Given the description of an element on the screen output the (x, y) to click on. 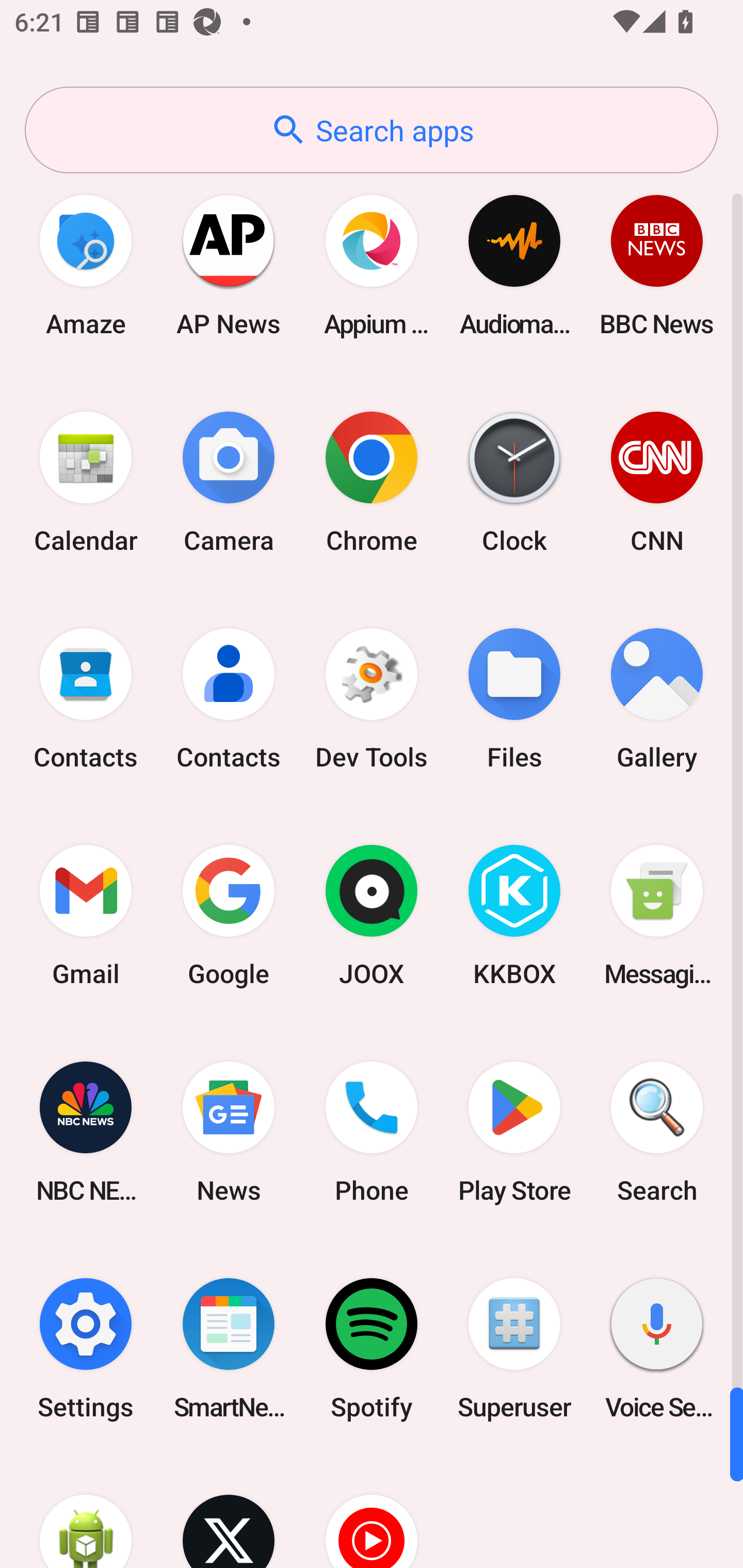
  Search apps (371, 130)
Amaze (85, 264)
AP News (228, 264)
Appium Settings (371, 264)
Audio­mack (514, 264)
BBC News (656, 264)
Calendar (85, 482)
Camera (228, 482)
Chrome (371, 482)
Clock (514, 482)
CNN (656, 482)
Contacts (85, 699)
Contacts (228, 699)
Dev Tools (371, 699)
Files (514, 699)
Gallery (656, 699)
Gmail (85, 915)
Google (228, 915)
JOOX (371, 915)
KKBOX (514, 915)
Messaging (656, 915)
NBC NEWS (85, 1131)
News (228, 1131)
Phone (371, 1131)
Play Store (514, 1131)
Search (656, 1131)
Settings (85, 1348)
SmartNews (228, 1348)
Spotify (371, 1348)
Superuser (514, 1348)
Voice Search (656, 1348)
WebView Browser Tester (85, 1512)
X (228, 1512)
YT Music (371, 1512)
